Given the description of an element on the screen output the (x, y) to click on. 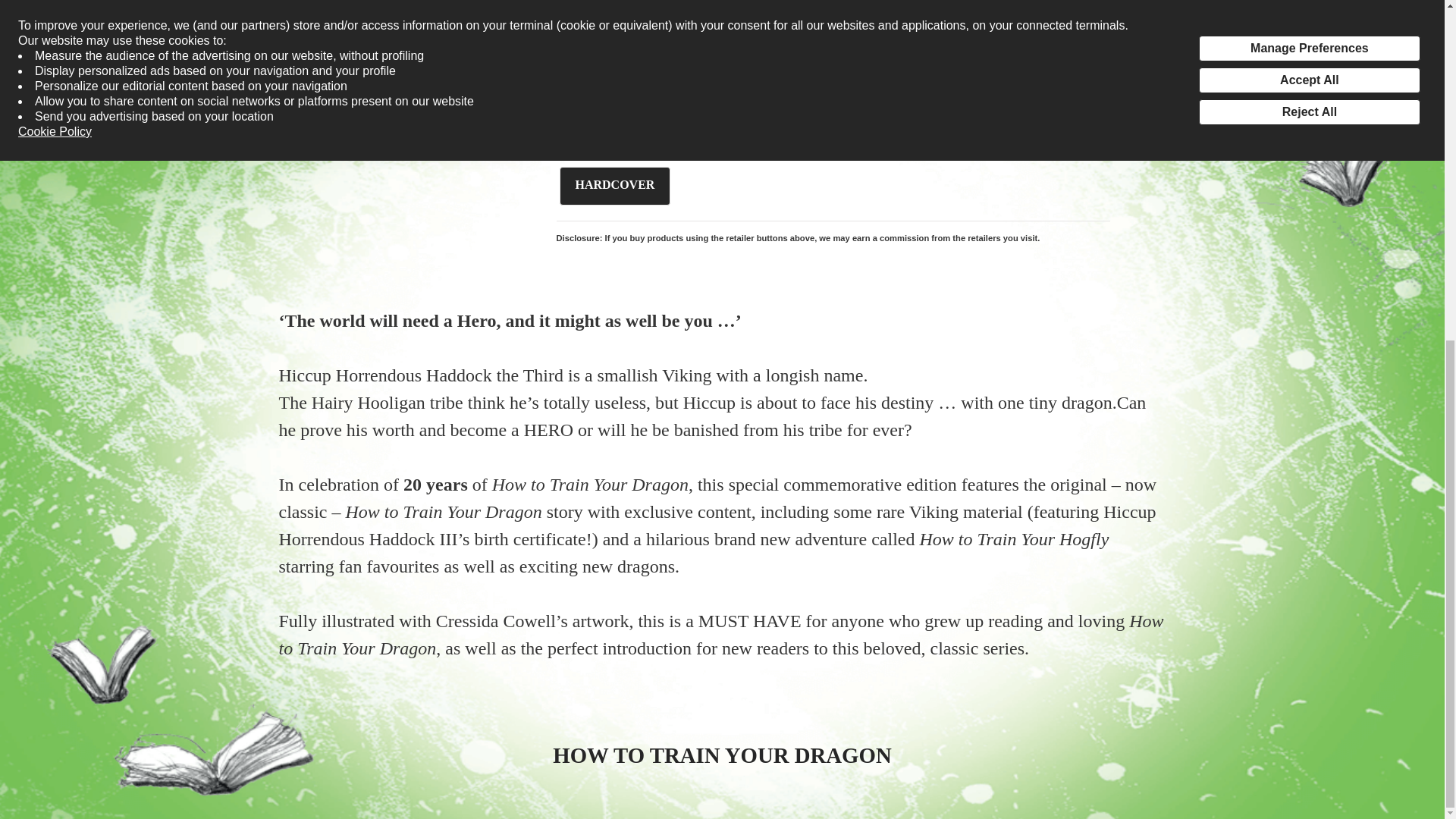
BOOKSHOP.ORG (871, 8)
AMAZON (613, 8)
BLACKWELL'S (737, 8)
